Given the description of an element on the screen output the (x, y) to click on. 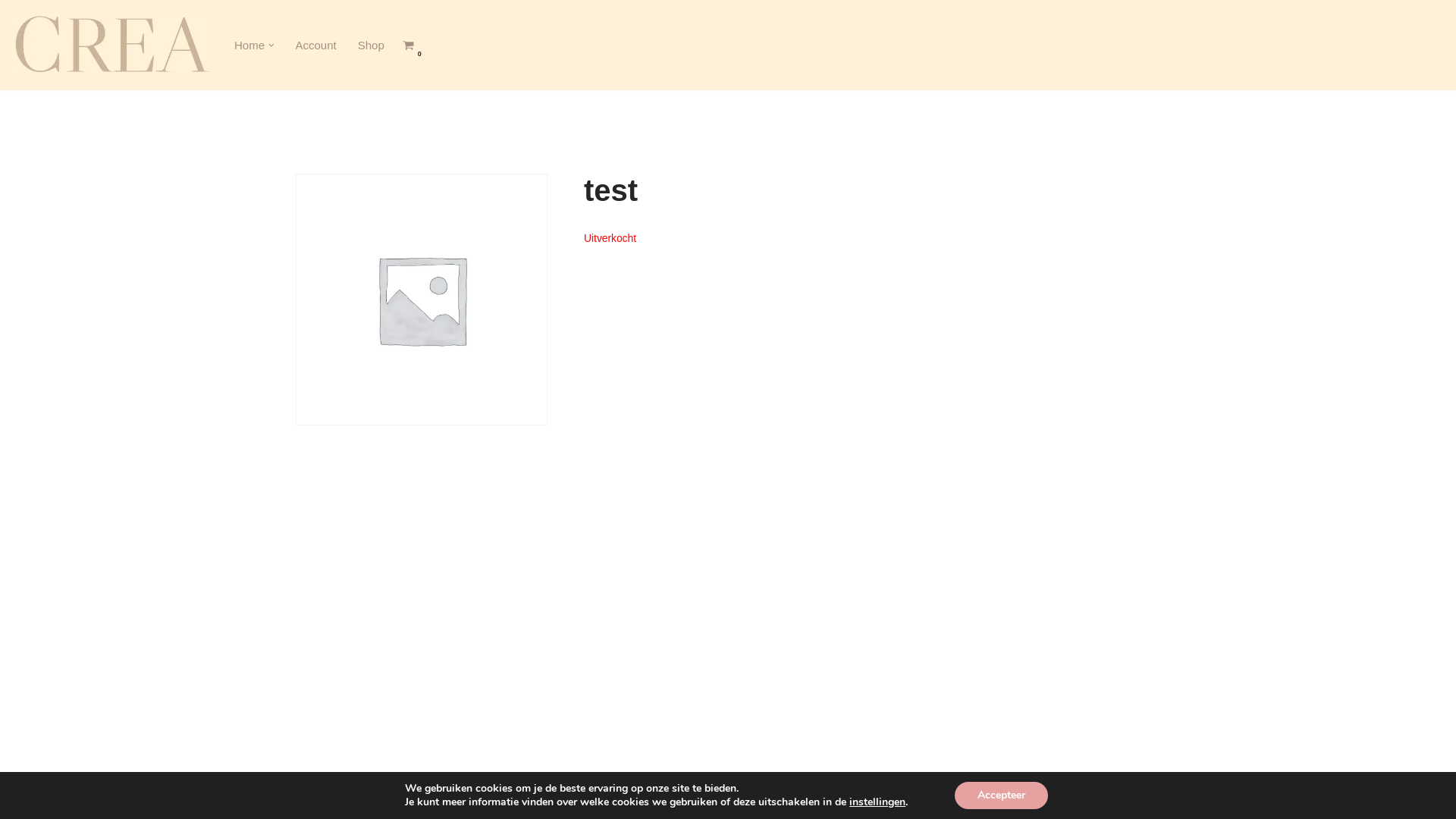
0 Element type: text (408, 44)
Shop Element type: text (370, 44)
Home Element type: text (249, 44)
instellingen Element type: text (877, 802)
Account Element type: text (315, 44)
Meteen naar de inhoud Element type: text (11, 31)
Accepteer Element type: text (1001, 795)
Crea Element type: hover (109, 44)
